Given the description of an element on the screen output the (x, y) to click on. 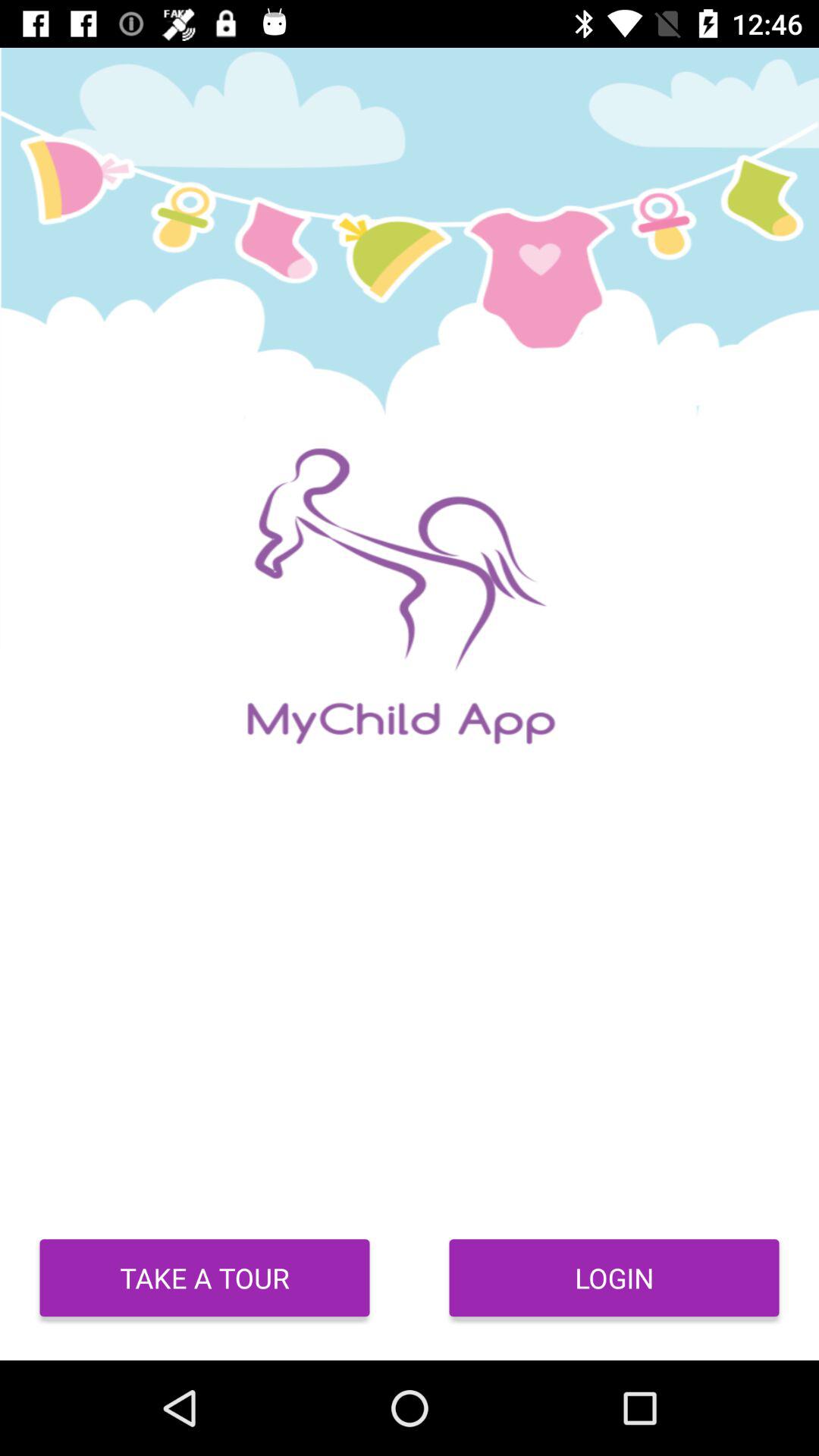
launch the item next to login (204, 1277)
